Given the description of an element on the screen output the (x, y) to click on. 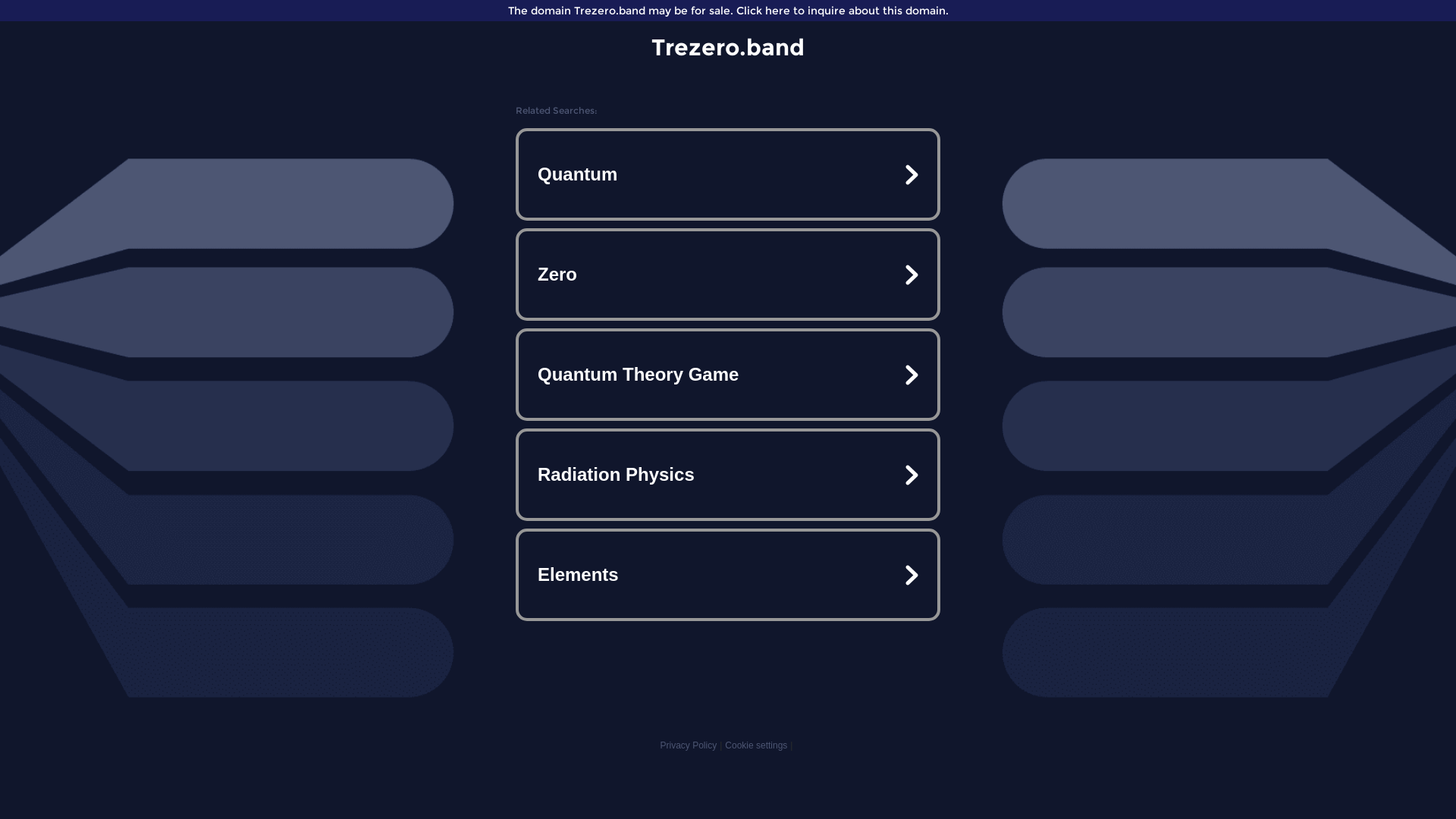
Zero Element type: text (727, 274)
Elements Element type: text (727, 574)
Cookie settings Element type: text (755, 745)
Quantum Theory Game Element type: text (727, 374)
Trezero.band Element type: text (727, 47)
Quantum Element type: text (727, 174)
Radiation Physics Element type: text (727, 474)
Privacy Policy Element type: text (687, 745)
